Given the description of an element on the screen output the (x, y) to click on. 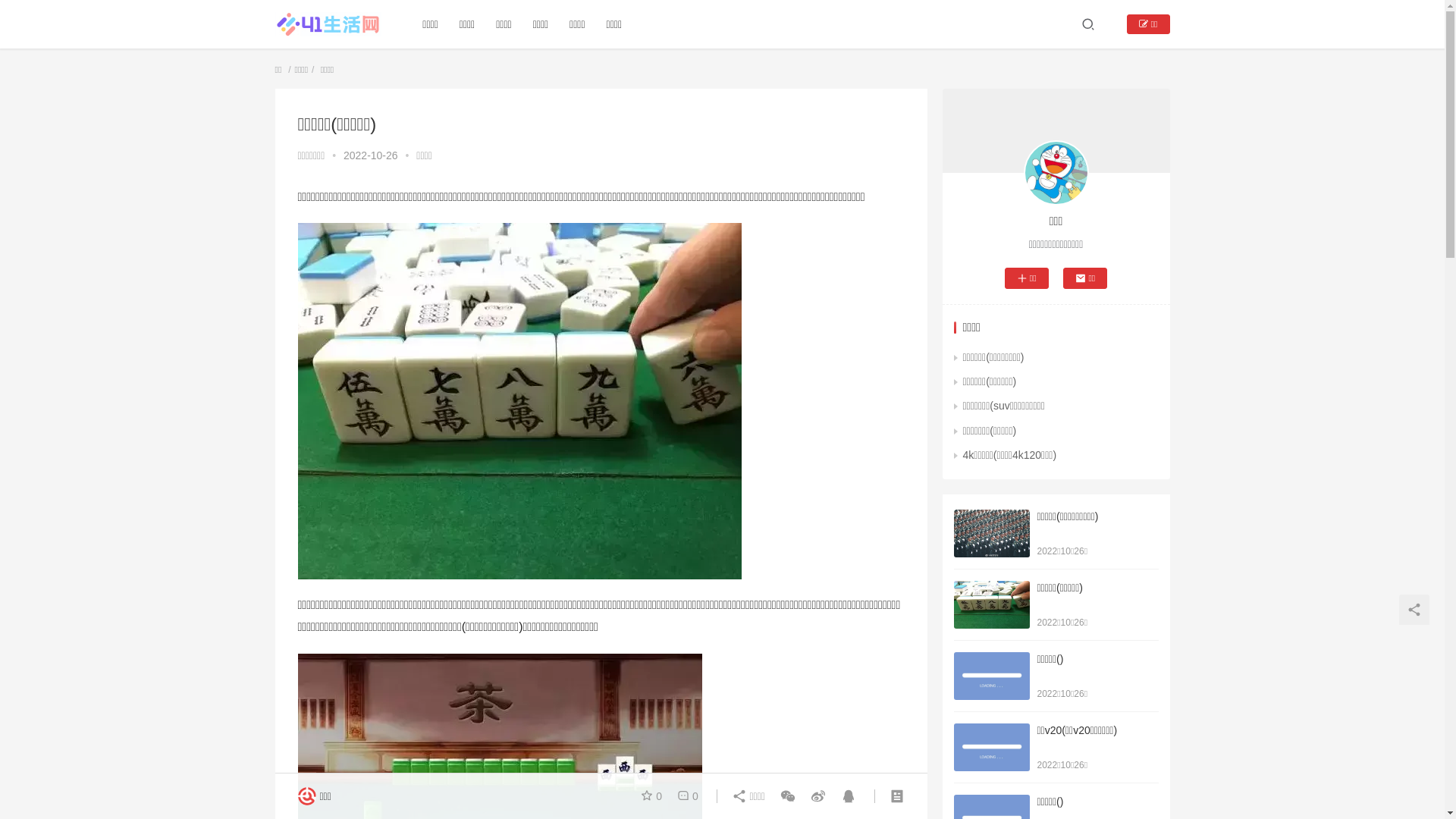
0 Element type: text (654, 796)
0 Element type: text (684, 796)
